Given the description of an element on the screen output the (x, y) to click on. 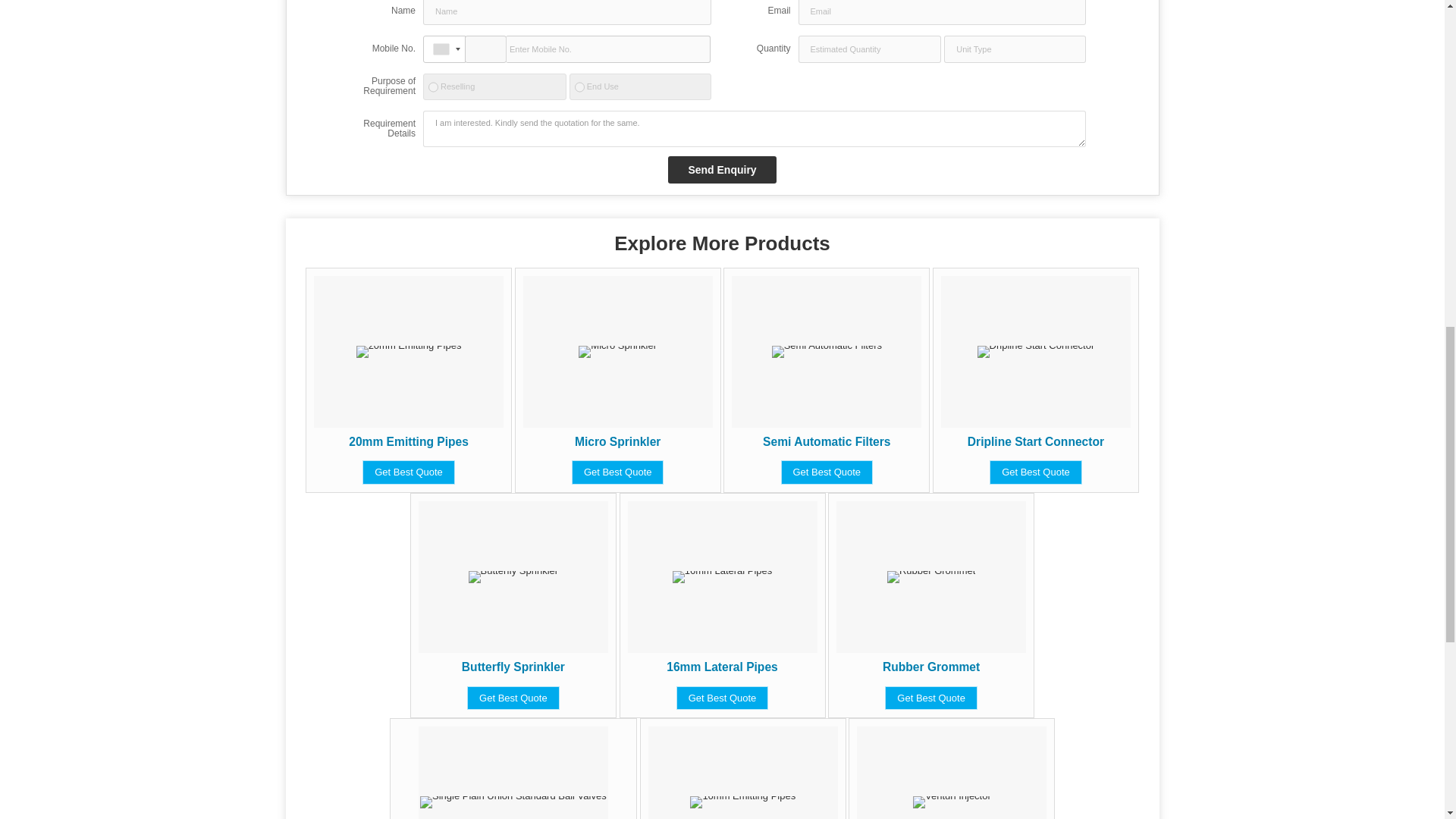
Send Enquiry (722, 169)
Reselling (433, 86)
End Use (580, 86)
